Given the description of an element on the screen output the (x, y) to click on. 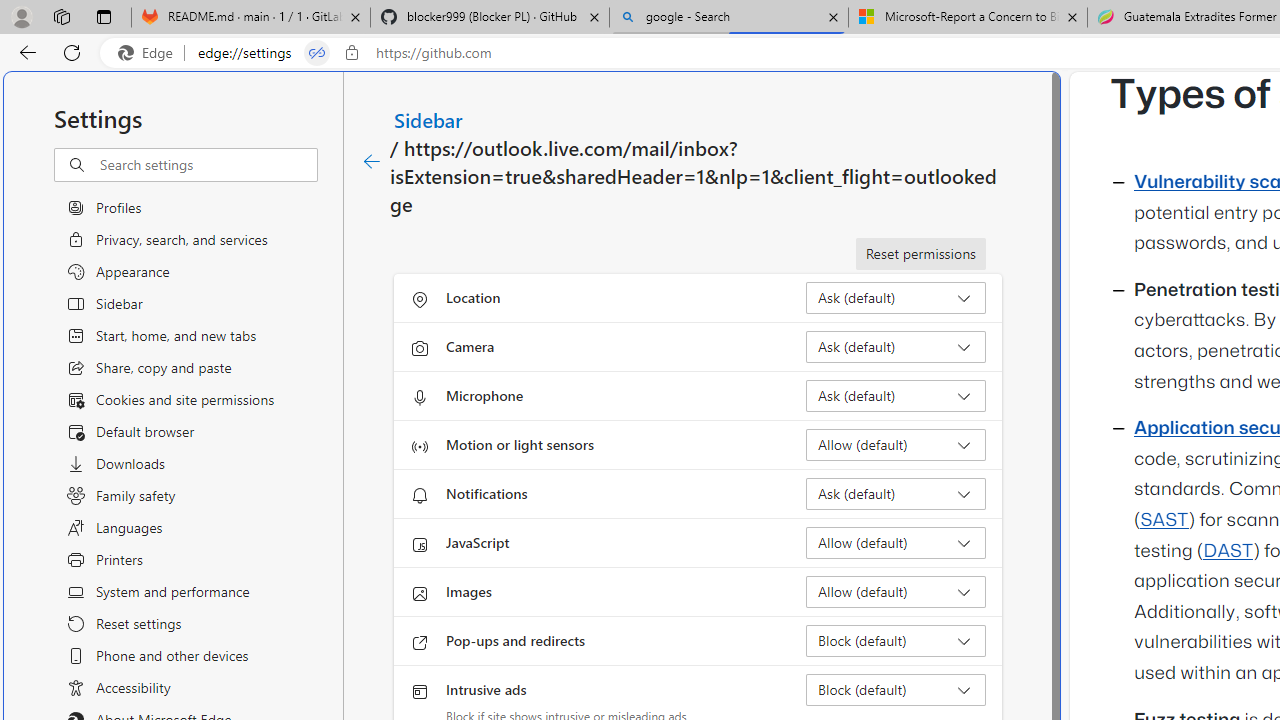
Images Allow (default) (895, 591)
SAST (1164, 520)
DAST (1228, 551)
Notifications Ask (default) (895, 493)
Location Ask (default) (895, 297)
Search settings (207, 165)
google - Search (729, 17)
Intrusive ads Block (default) (895, 689)
JavaScript Allow (default) (895, 542)
Reset permissions (920, 254)
